Given the description of an element on the screen output the (x, y) to click on. 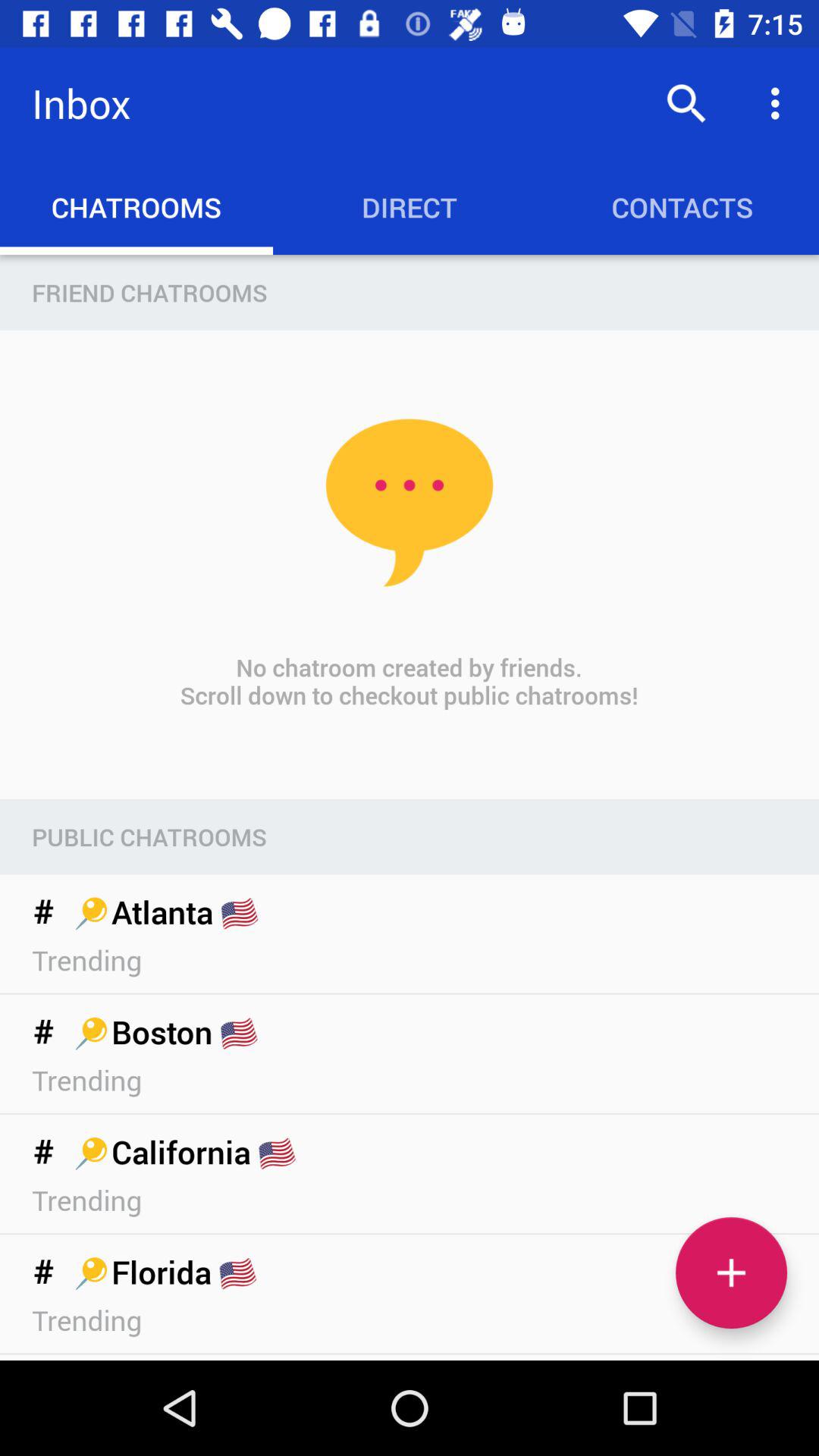
create chatroom (731, 1272)
